Given the description of an element on the screen output the (x, y) to click on. 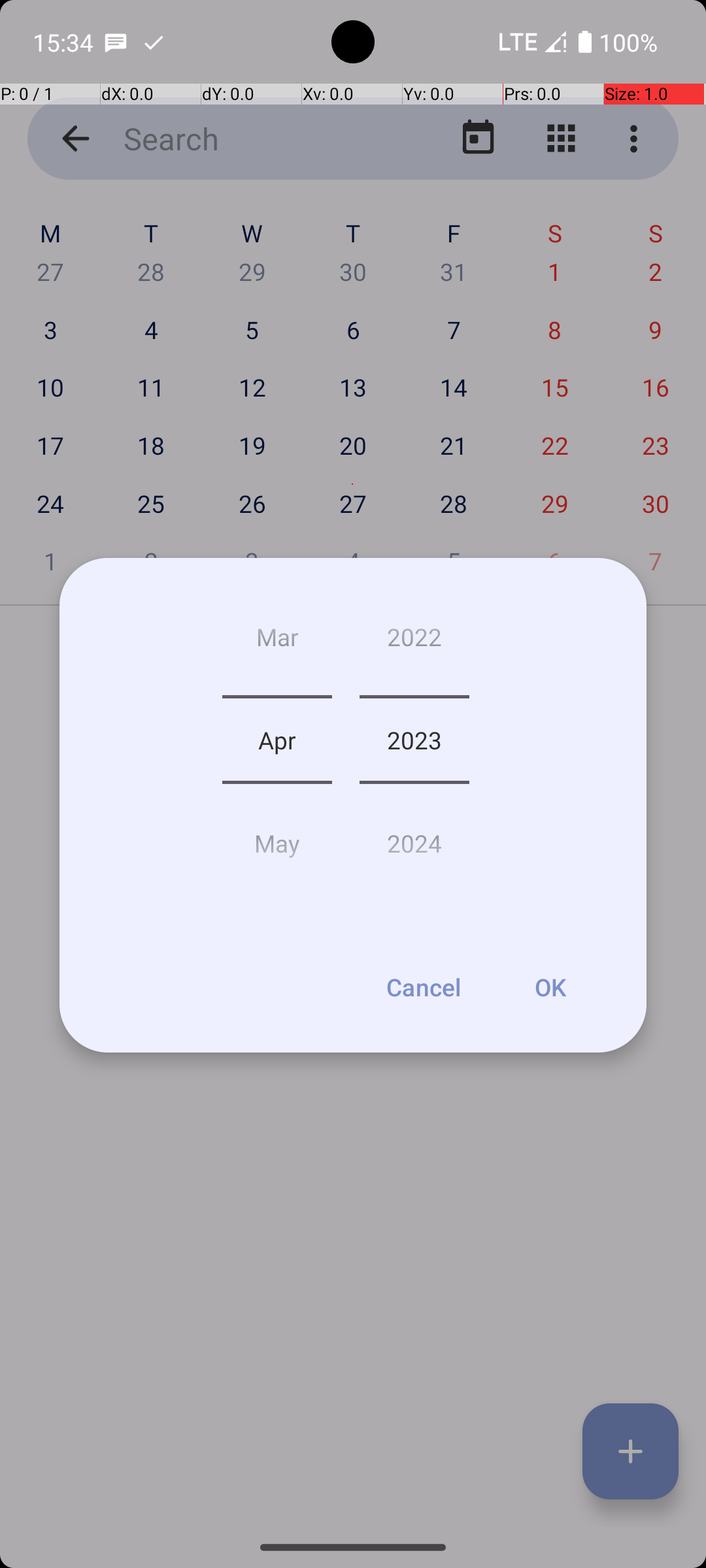
Mar Element type: android.widget.Button (277, 641)
Apr Element type: android.widget.EditText (277, 739)
May Element type: android.widget.Button (277, 837)
